Given the description of an element on the screen output the (x, y) to click on. 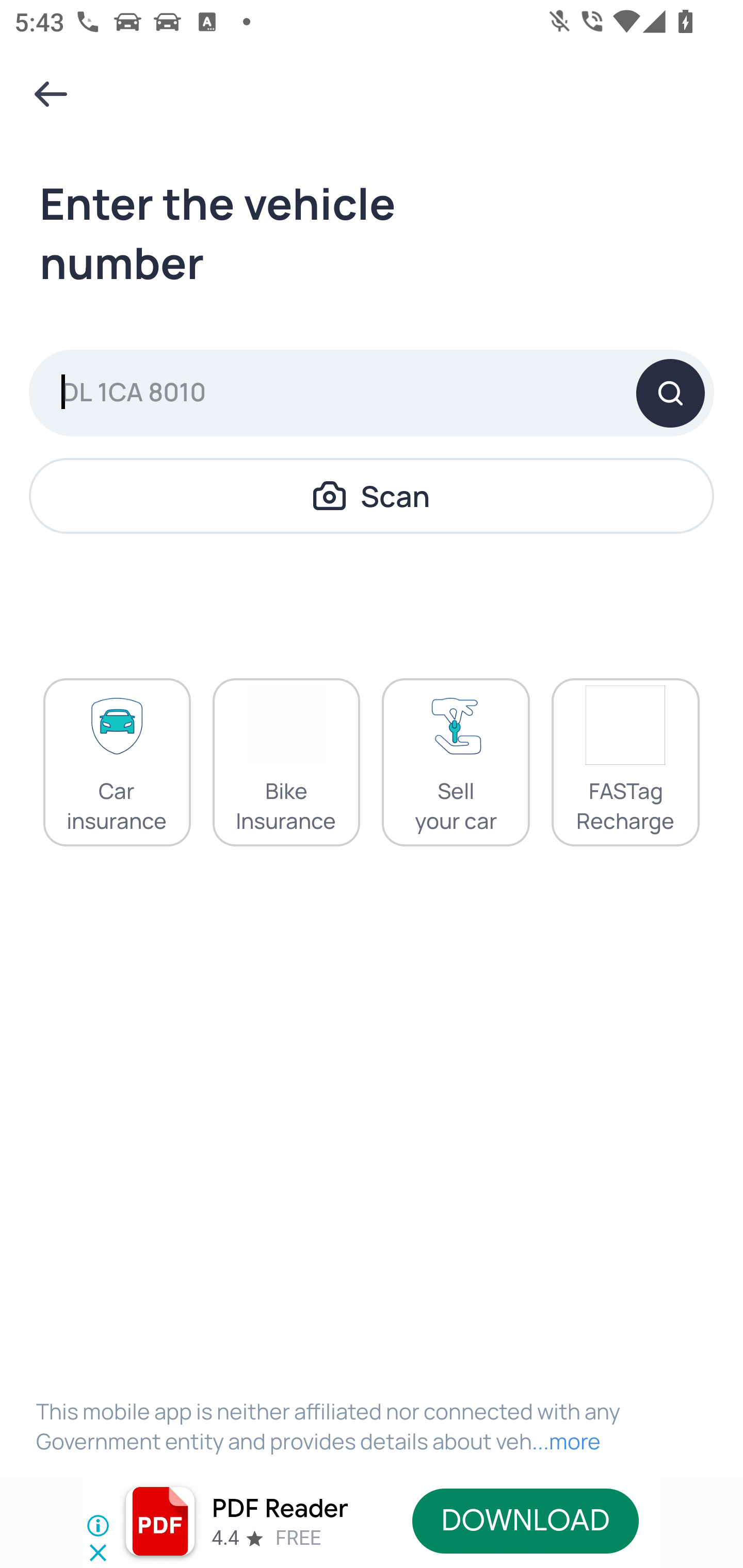
Navigate up (50, 93)
DL 1CA 8010 (371, 392)
Scan (371, 495)
Car
insurance (116, 762)
Bike
Insurance (286, 762)
Sell
your car (455, 762)
FASTag Recharge (625, 762)
DOWNLOAD (524, 1520)
PDF Reader (279, 1508)
4.4 (224, 1537)
FREE (298, 1537)
